Given the description of an element on the screen output the (x, y) to click on. 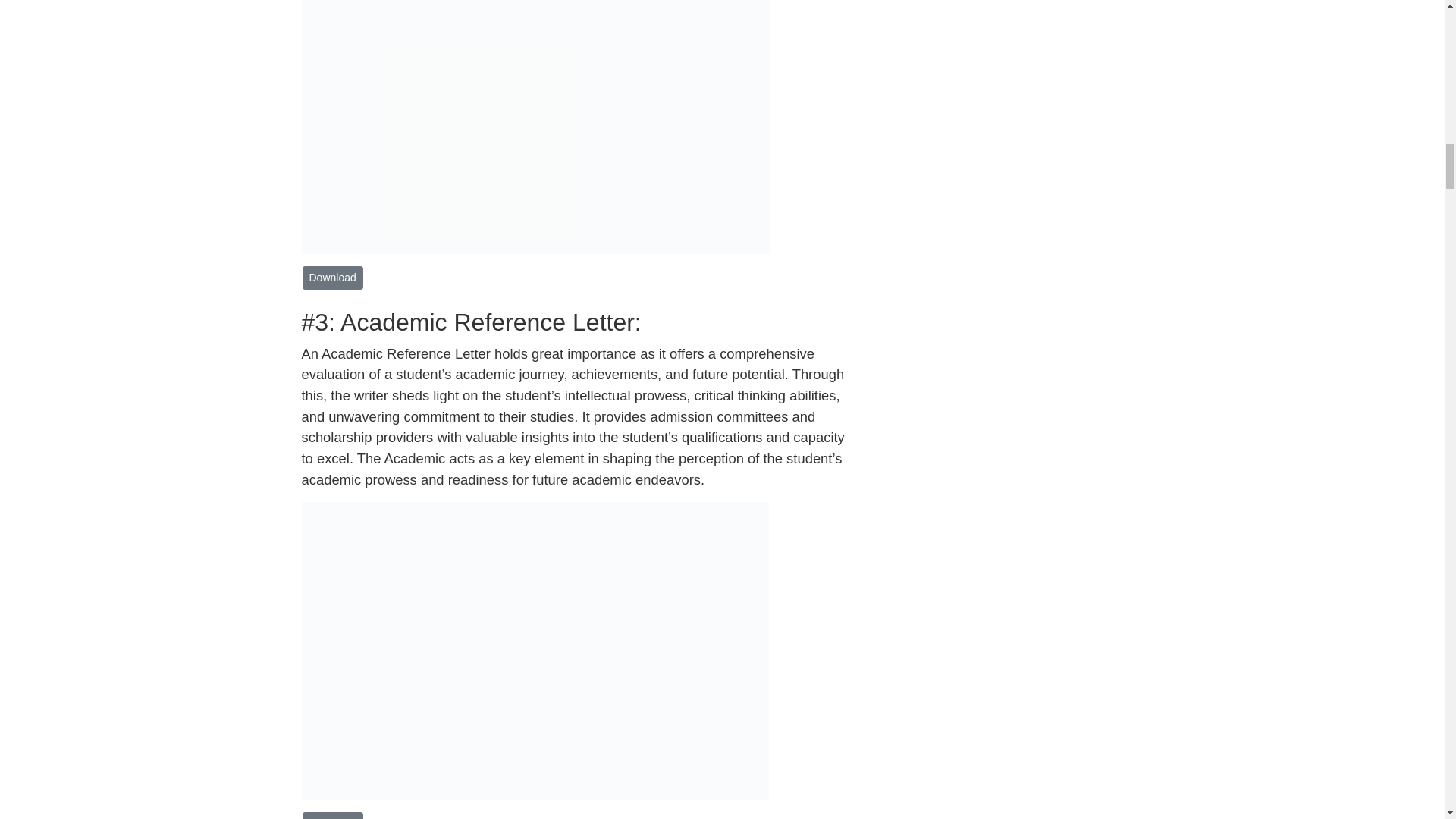
Download (331, 277)
Download (331, 815)
